Given the description of an element on the screen output the (x, y) to click on. 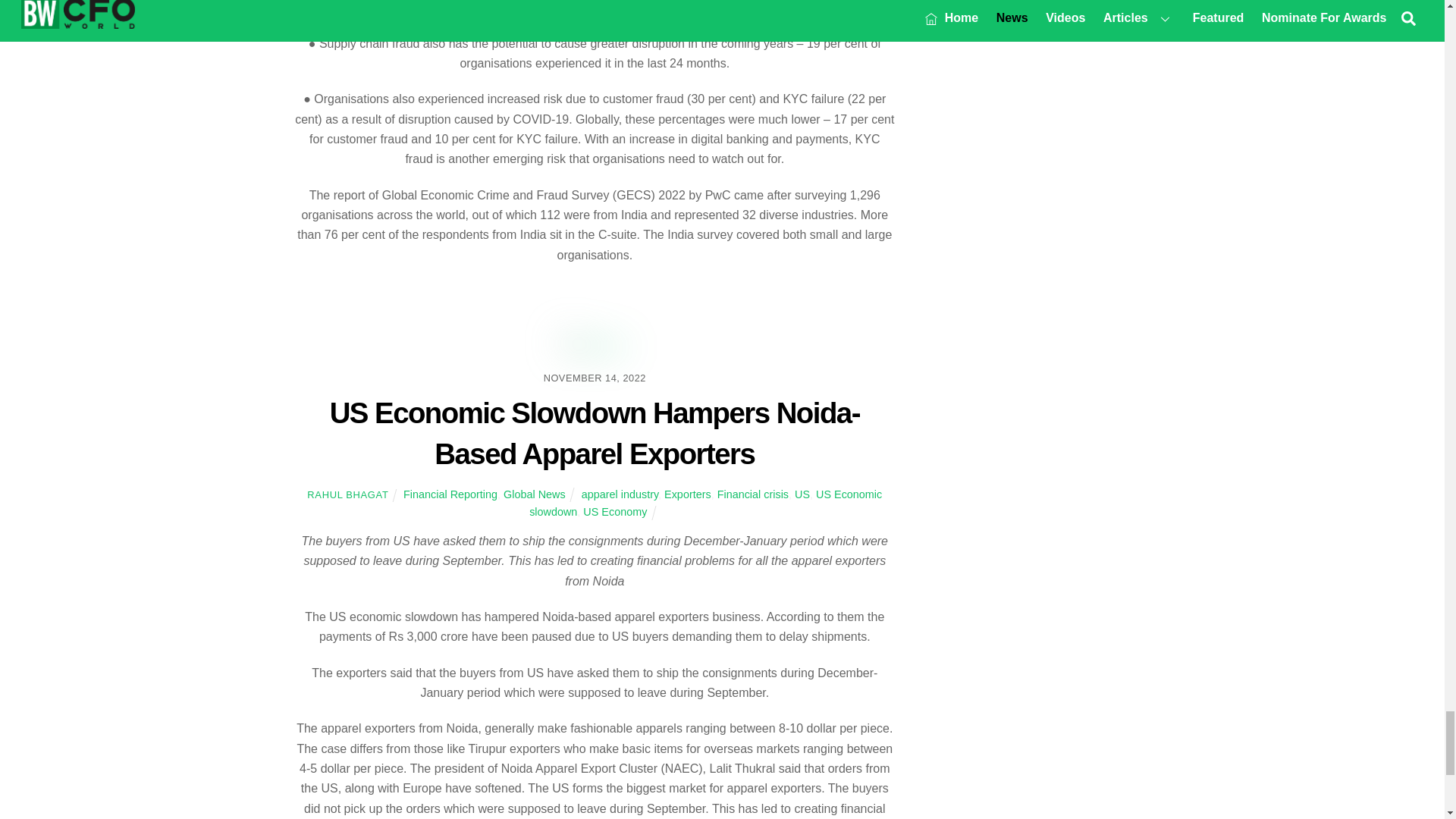
economy (595, 346)
